Given the description of an element on the screen output the (x, y) to click on. 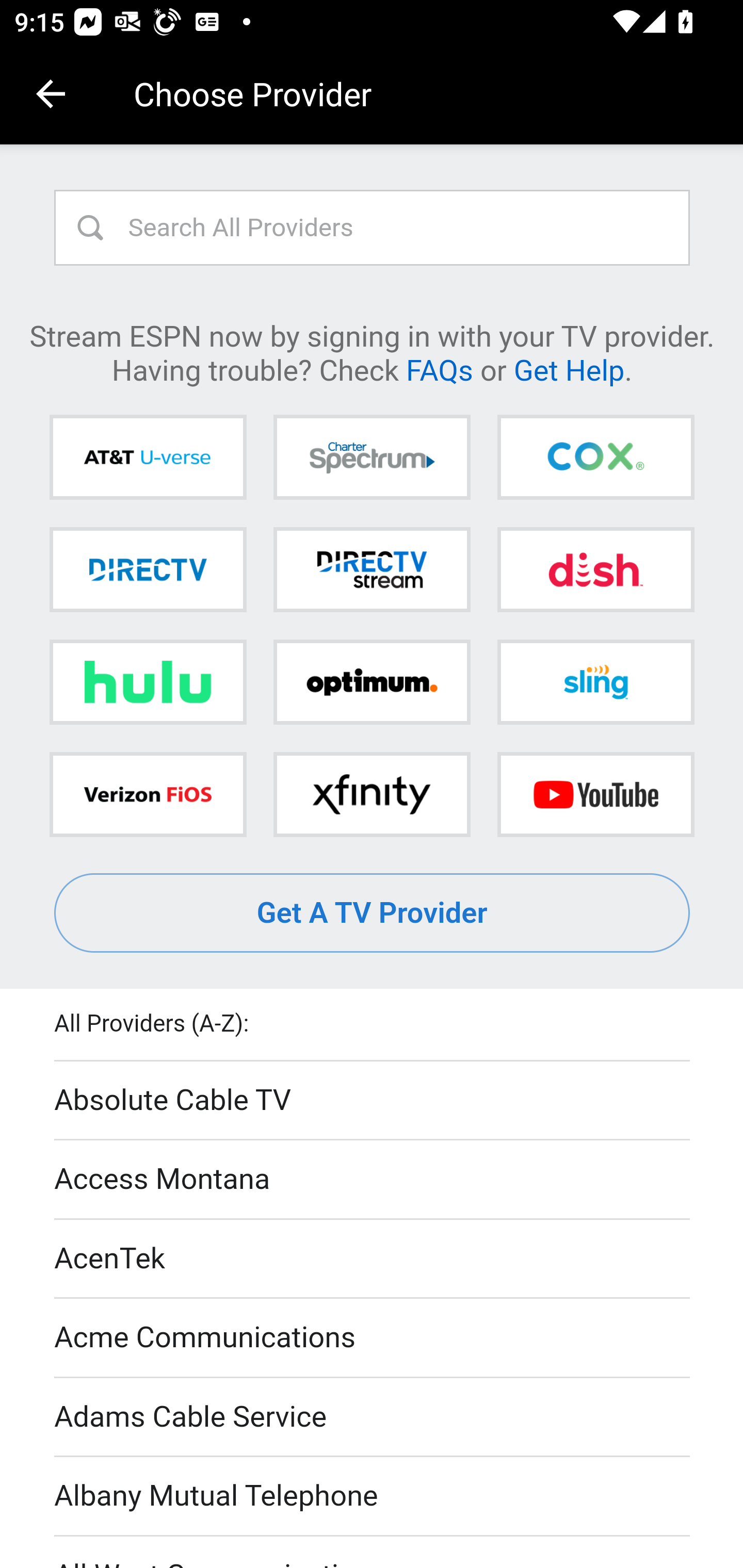
Navigate up (50, 93)
FAQs (438, 369)
Get Help (569, 369)
AT&T U-verse (147, 457)
Charter Spectrum (371, 457)
Cox (595, 457)
DIRECTV (147, 568)
DIRECTV STREAM (371, 568)
DISH (595, 568)
Hulu (147, 681)
Optimum (371, 681)
Sling TV (595, 681)
Verizon FiOS (147, 793)
Xfinity (371, 793)
YouTube TV (595, 793)
Get A TV Provider (372, 912)
Absolute Cable TV (372, 1100)
Access Montana (372, 1178)
AcenTek (372, 1258)
Acme Communications (372, 1338)
Adams Cable Service (372, 1417)
Albany Mutual Telephone (372, 1497)
